Given the description of an element on the screen output the (x, y) to click on. 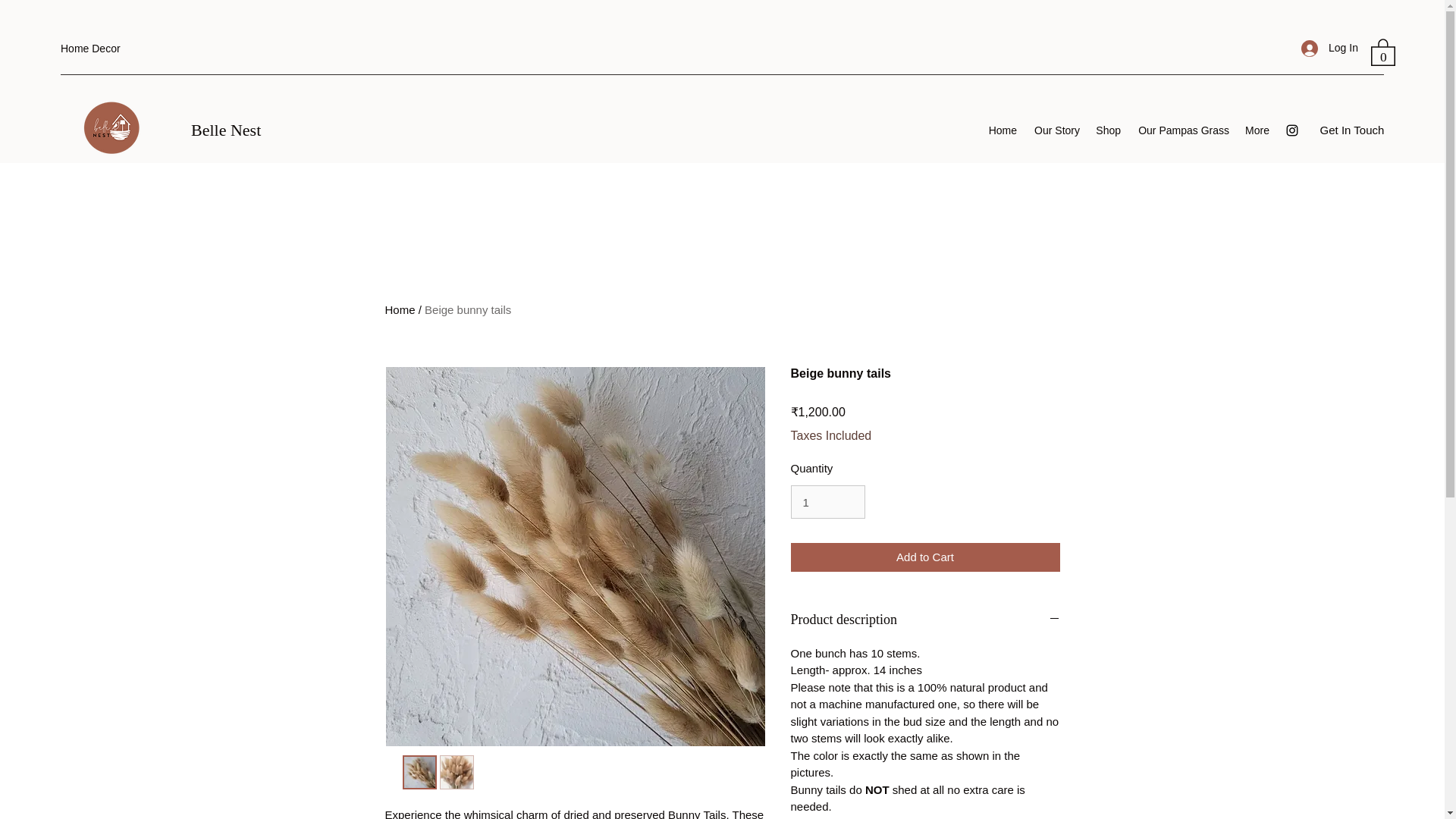
Log In (1324, 48)
Home (1002, 129)
Belle Nest (225, 129)
Get In Touch (1352, 129)
Our Pampas Grass (1182, 129)
Beige bunny tails (468, 309)
Add to Cart (924, 557)
Product description (924, 620)
Our Story (1056, 129)
Home (399, 309)
1 (827, 501)
Shop (1107, 129)
